Given the description of an element on the screen output the (x, y) to click on. 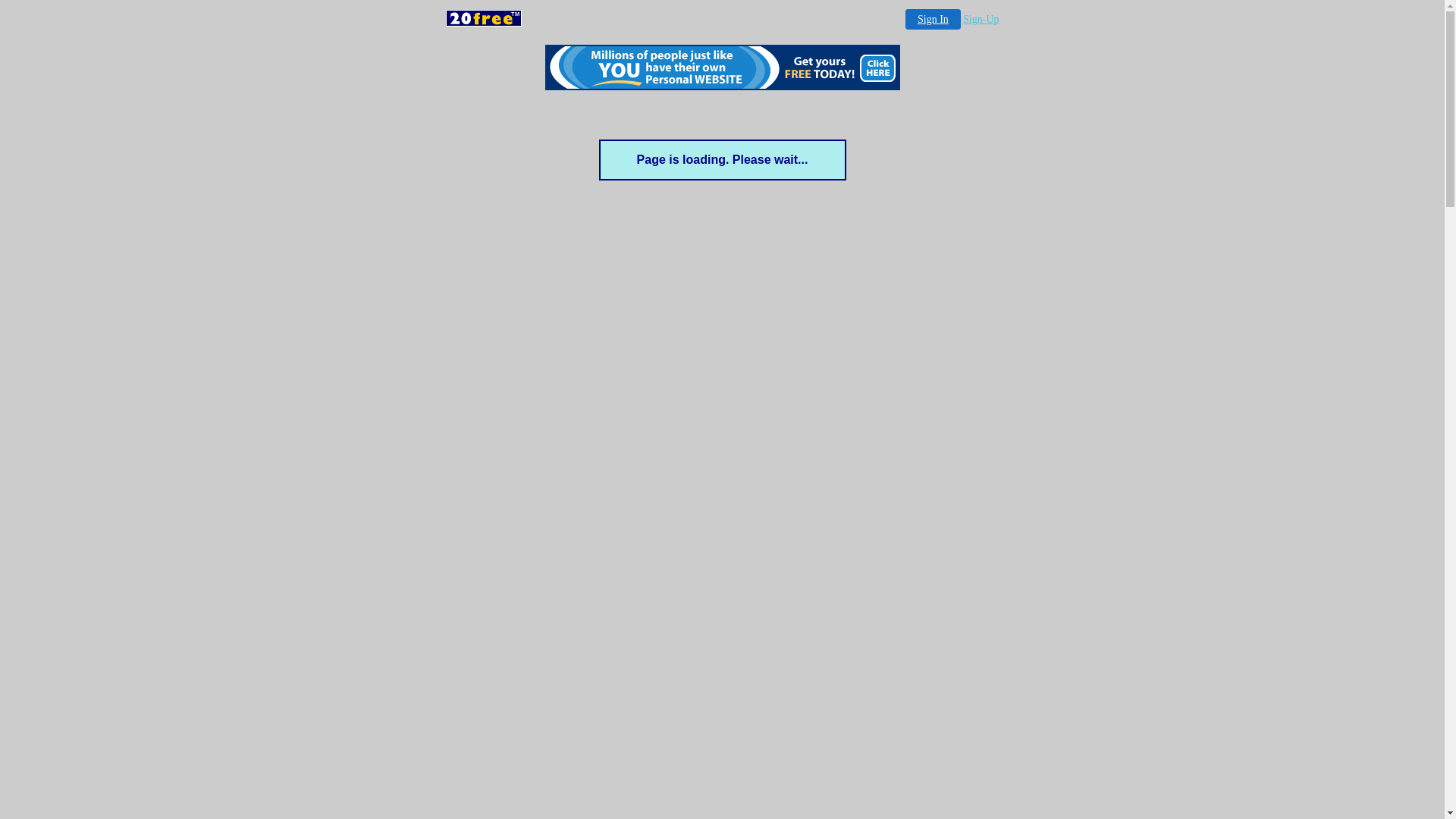
Sign In Element type: text (932, 19)
Sign-Up Element type: text (980, 19)
